Given the description of an element on the screen output the (x, y) to click on. 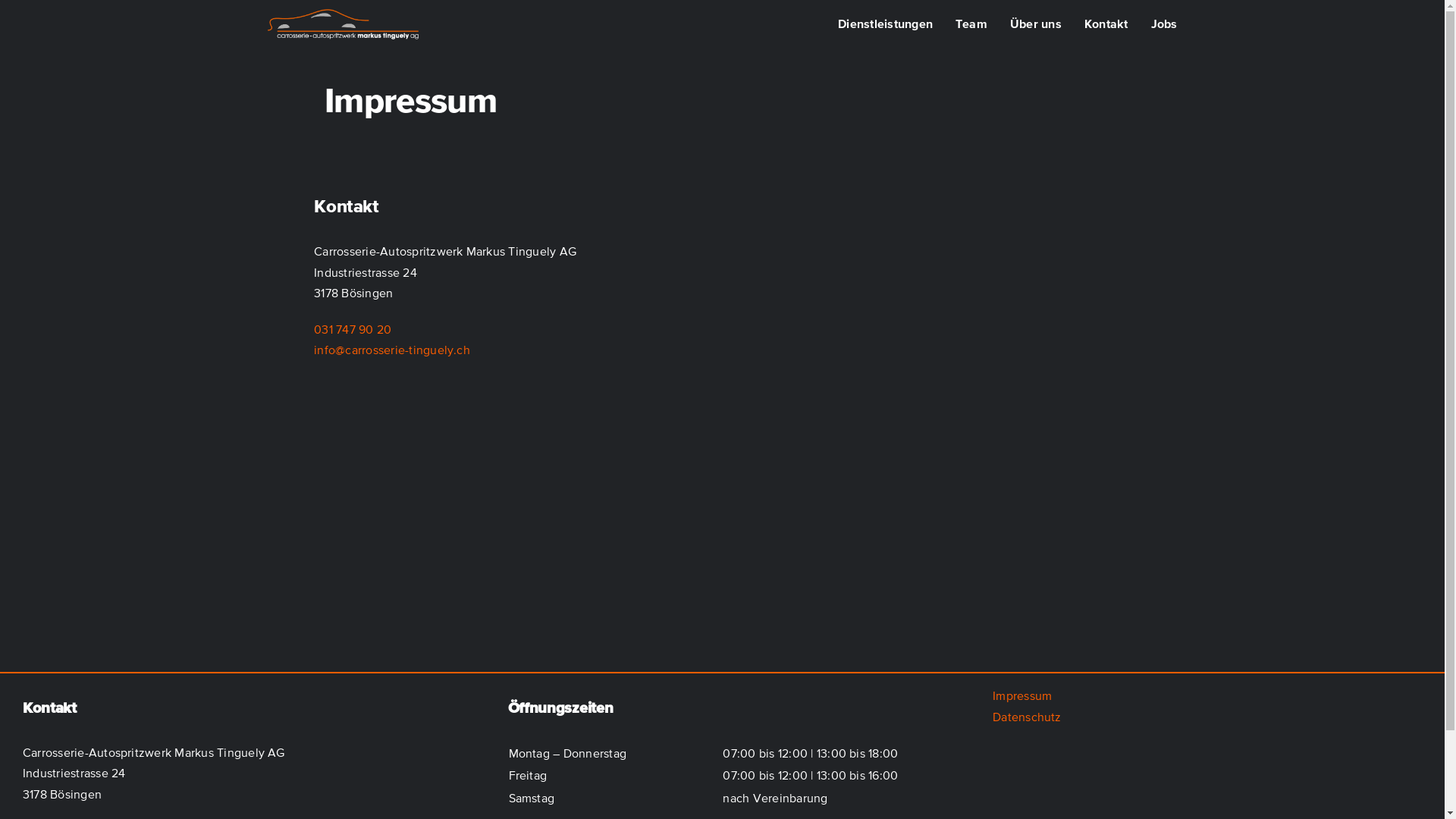
Dienstleistungen Element type: text (884, 24)
Datenschutz Element type: text (1026, 716)
Kontakt Element type: text (1106, 24)
Jobs Element type: text (1164, 24)
031 747 90 20 Element type: text (352, 328)
Impressum Element type: text (1021, 695)
Team Element type: text (971, 24)
info@carrosserie-tinguely.ch Element type: text (391, 349)
